Given the description of an element on the screen output the (x, y) to click on. 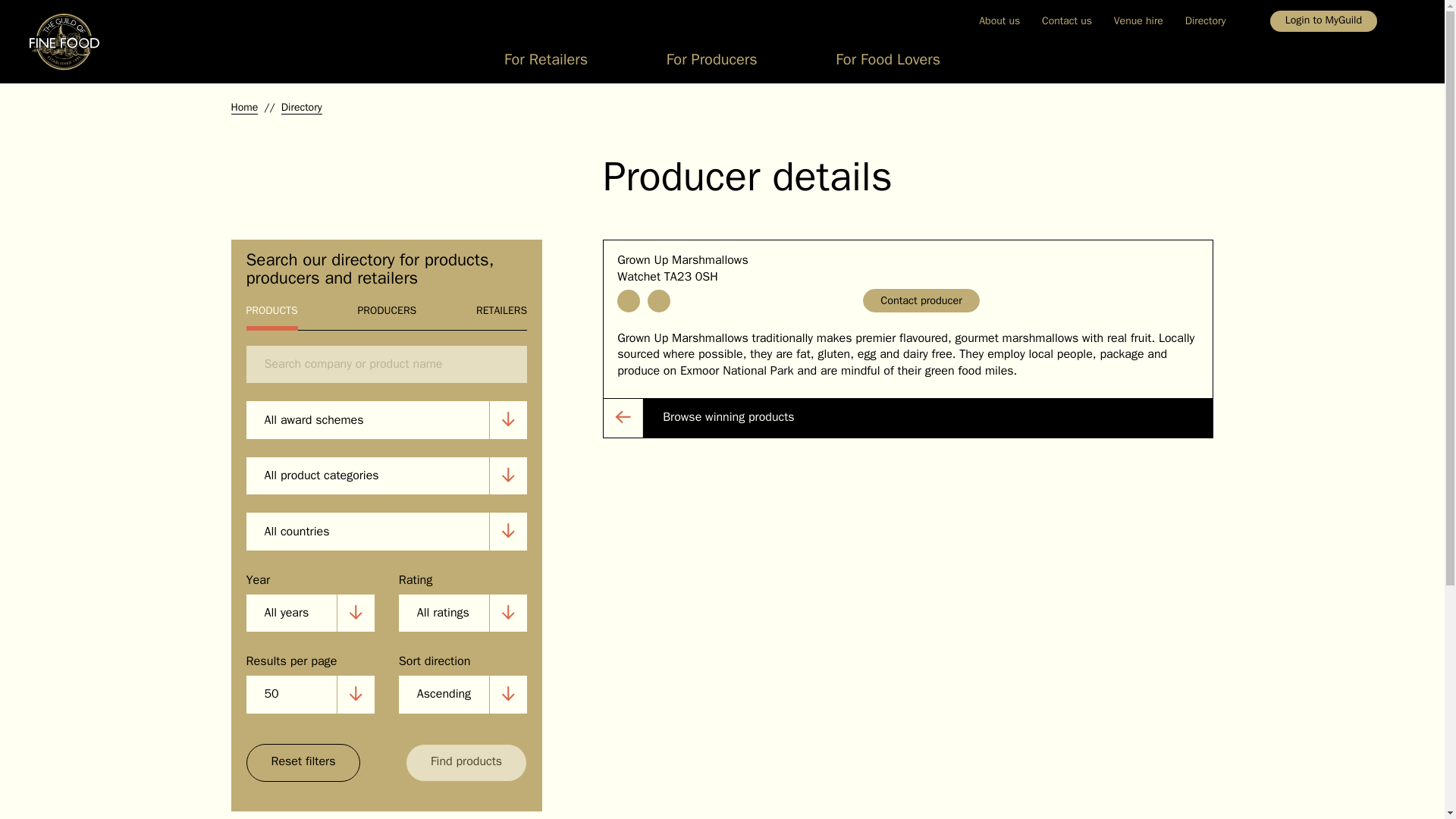
Login to MyGuild (1323, 20)
Directory (1204, 20)
Contact us (1066, 20)
Directory (1204, 20)
For Producers (711, 63)
About us (999, 20)
Venue hire (1137, 20)
For Retailers (545, 63)
Venue hire (1137, 20)
About us (999, 20)
Contact us (1066, 20)
